Given the description of an element on the screen output the (x, y) to click on. 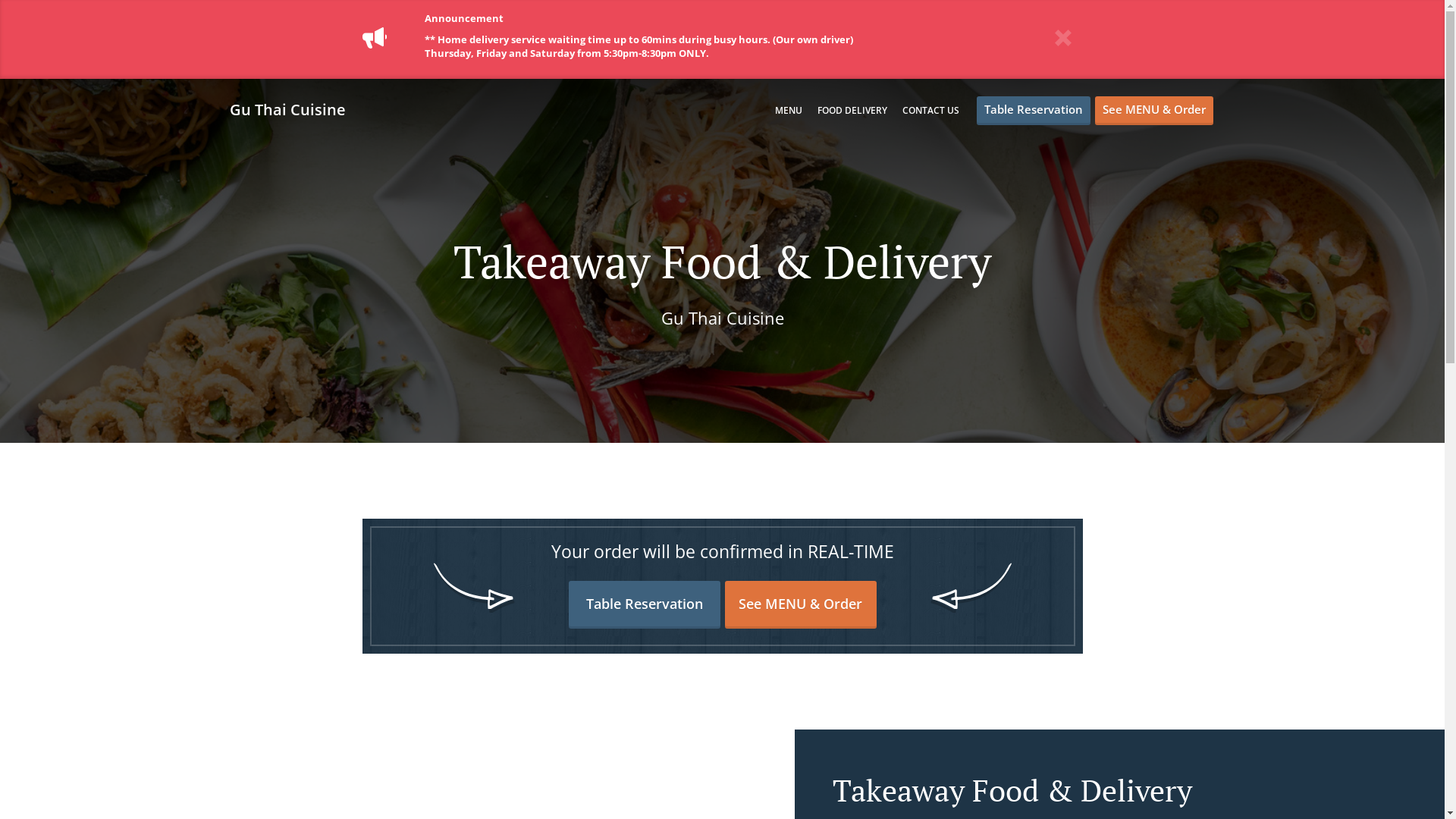
FOOD DELIVERY Element type: text (852, 109)
Gu Thai Cuisine Element type: text (294, 109)
MENU Element type: text (788, 109)
CONTACT US Element type: text (930, 109)
